Given the description of an element on the screen output the (x, y) to click on. 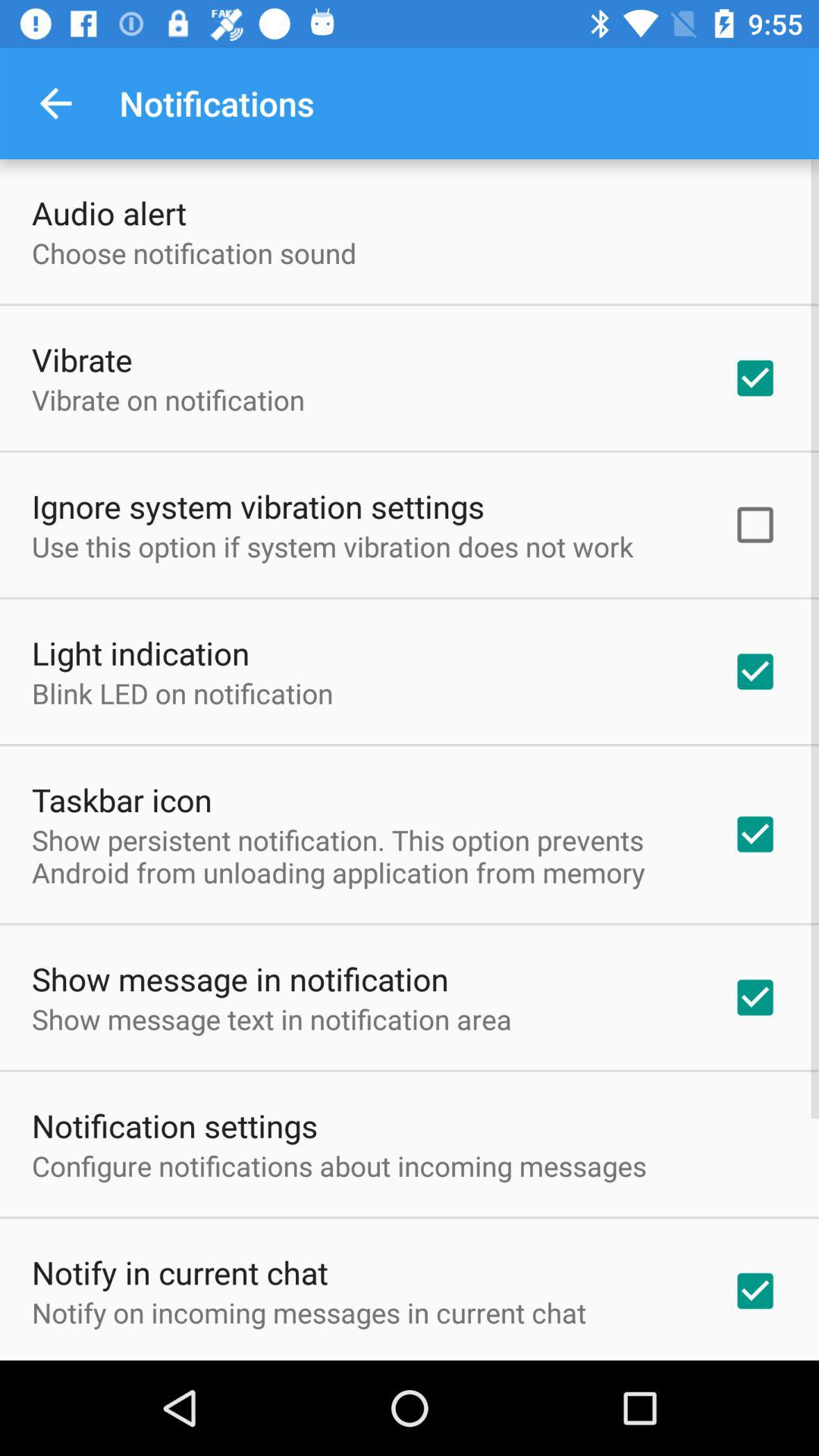
press the icon above the taskbar icon icon (182, 693)
